Given the description of an element on the screen output the (x, y) to click on. 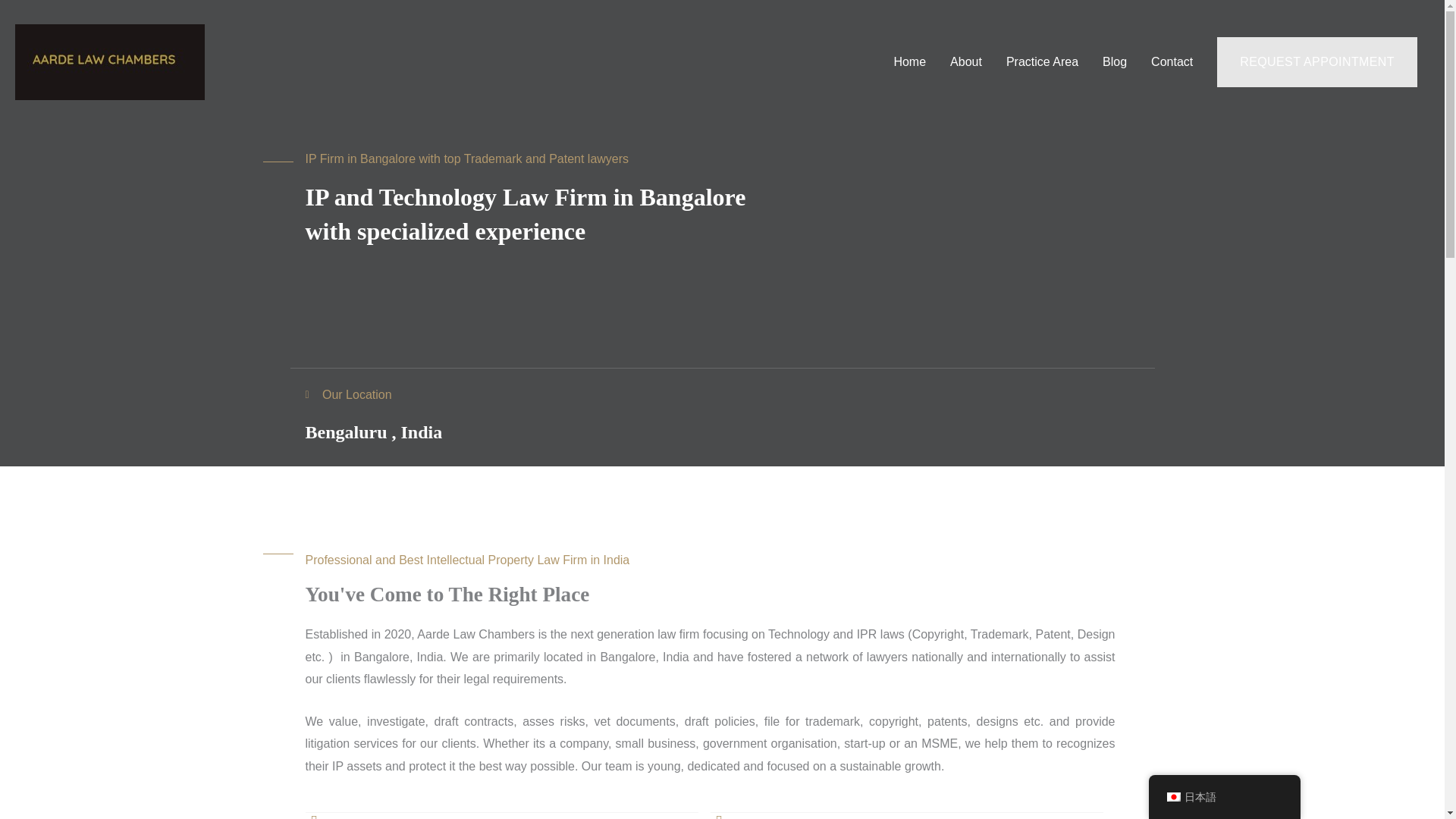
Practice Area (1042, 61)
Blog (1114, 61)
REQUEST APPOINTMENT (1316, 61)
Home (908, 61)
Contact (1171, 61)
About (965, 61)
